Given the description of an element on the screen output the (x, y) to click on. 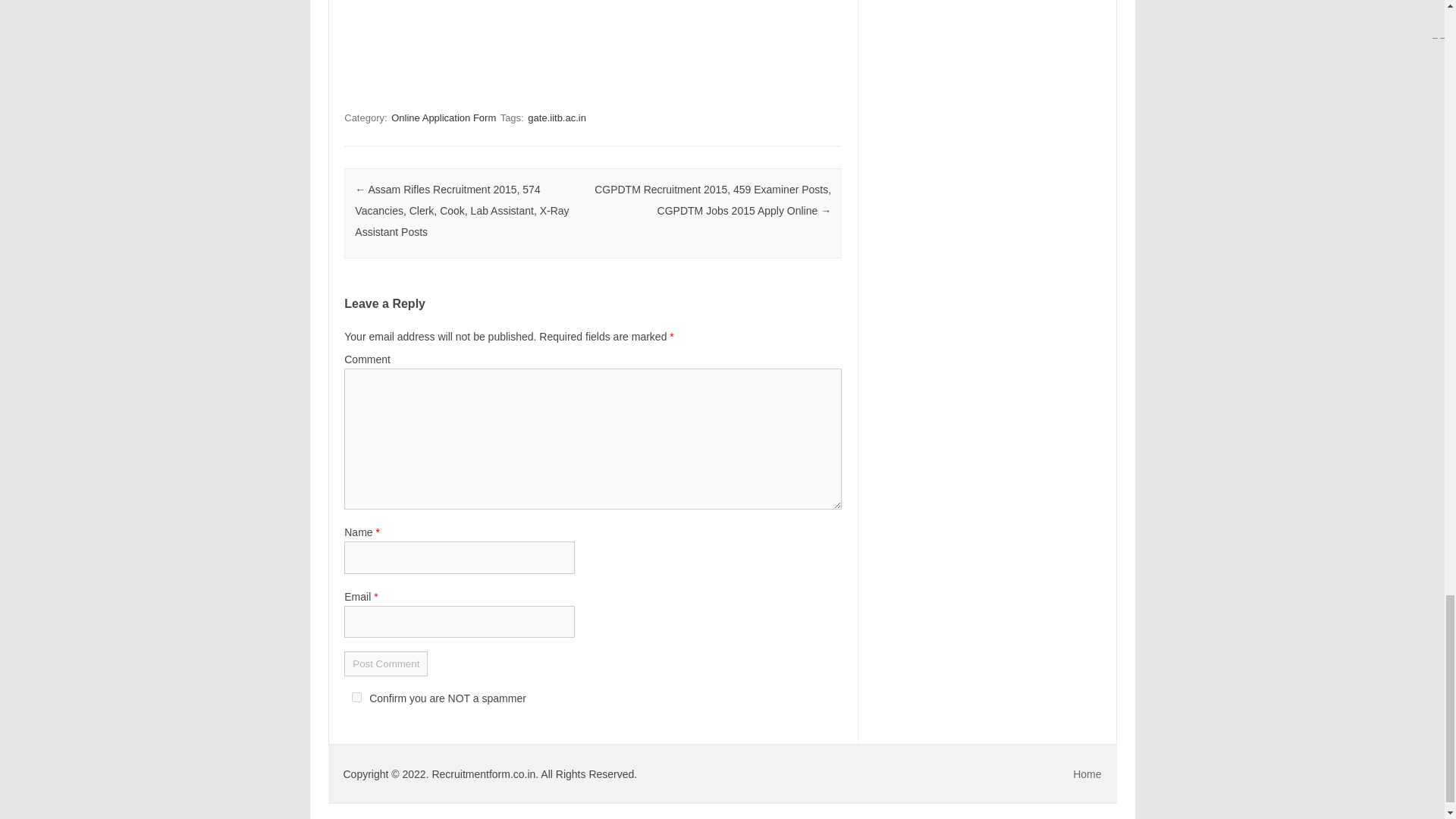
Post Comment (385, 663)
Post Comment (385, 663)
on (356, 696)
gate.iitb.ac.in (556, 117)
Online Application Form (443, 117)
